Given the description of an element on the screen output the (x, y) to click on. 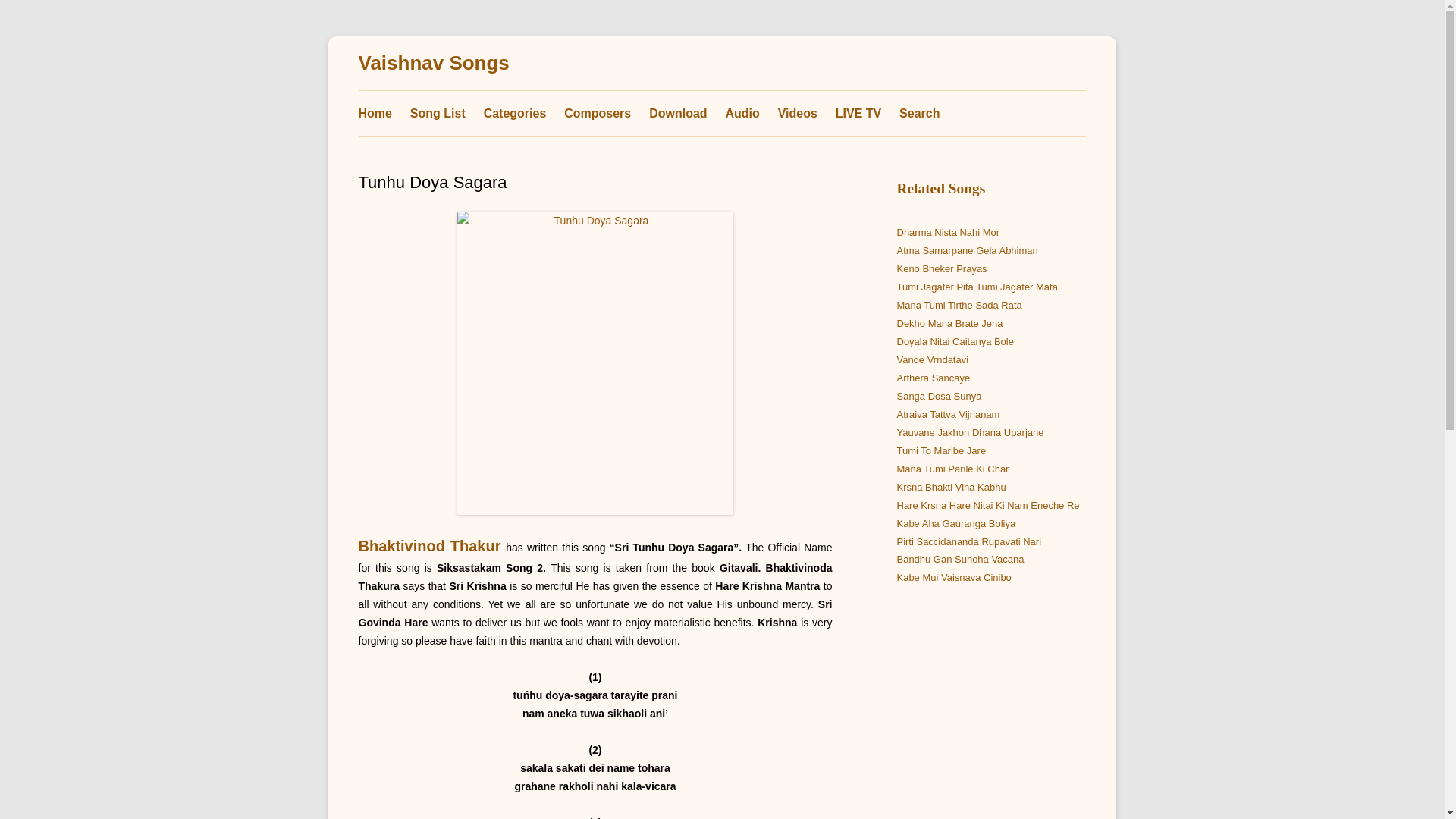
Tumi To Maribe Jare (940, 450)
Atma Samarpane Gela Abhiman (966, 250)
Atma Samarpane Gela Abhiman (966, 250)
Vaishnav Songs (433, 63)
Composers (597, 112)
Tumi Jagater Pita Tumi Jagater Mata (976, 286)
Audio (741, 112)
Hare Krsna Hare Nitai Ki Nam Eneche Re (987, 505)
Arthera Sancaye (932, 378)
Vande Vrndatavi (932, 359)
Categories (515, 112)
Search (919, 112)
Search (919, 112)
